Given the description of an element on the screen output the (x, y) to click on. 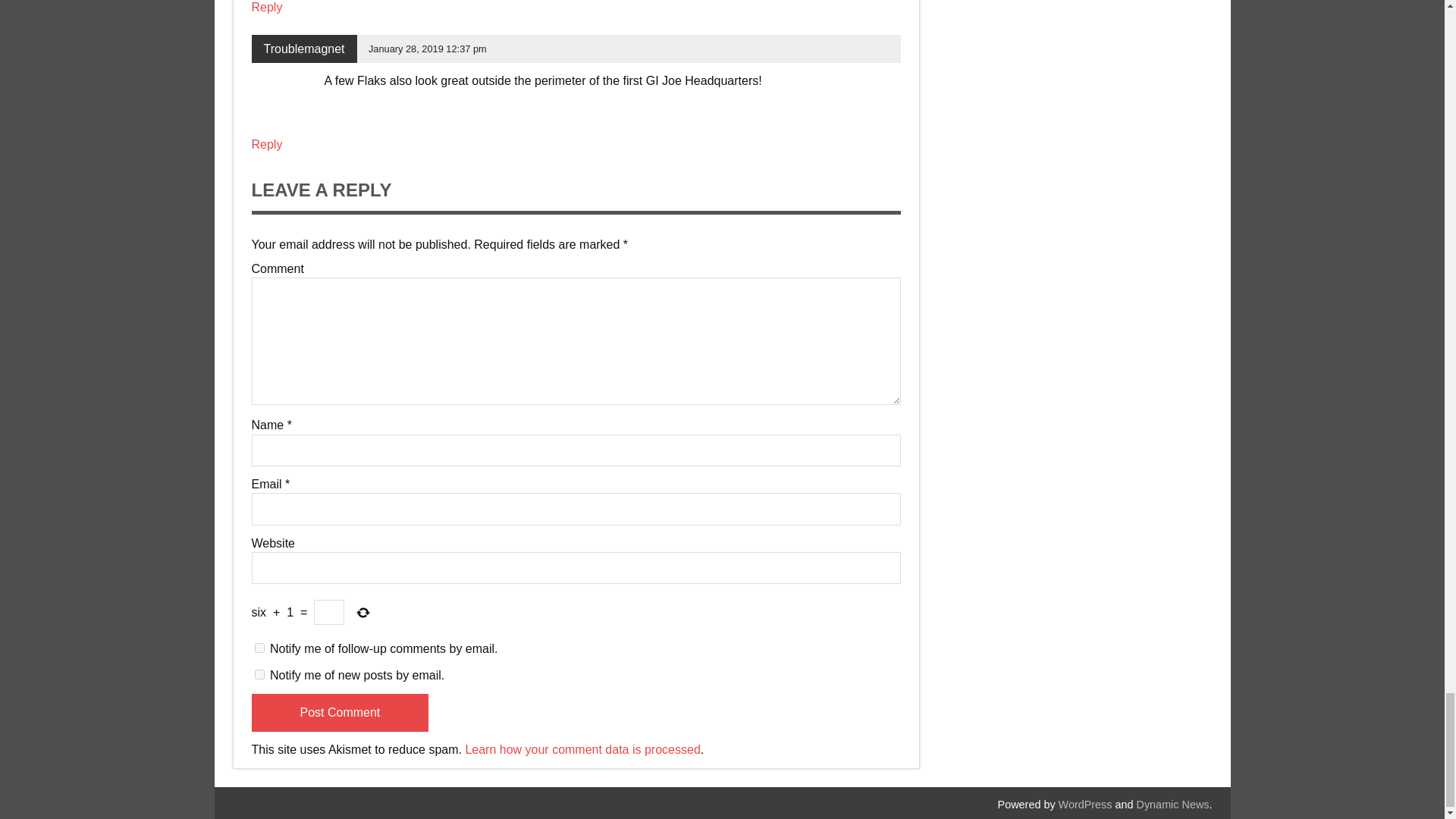
subscribe (259, 674)
Post Comment (340, 712)
January 28, 2019 12:37 pm (427, 48)
Post Comment (340, 712)
WordPress (1085, 804)
Reply (266, 6)
Dynamic News WordPress Theme (1173, 804)
Learn how your comment data is processed (582, 748)
Reply (266, 144)
subscribe (259, 647)
